Given the description of an element on the screen output the (x, y) to click on. 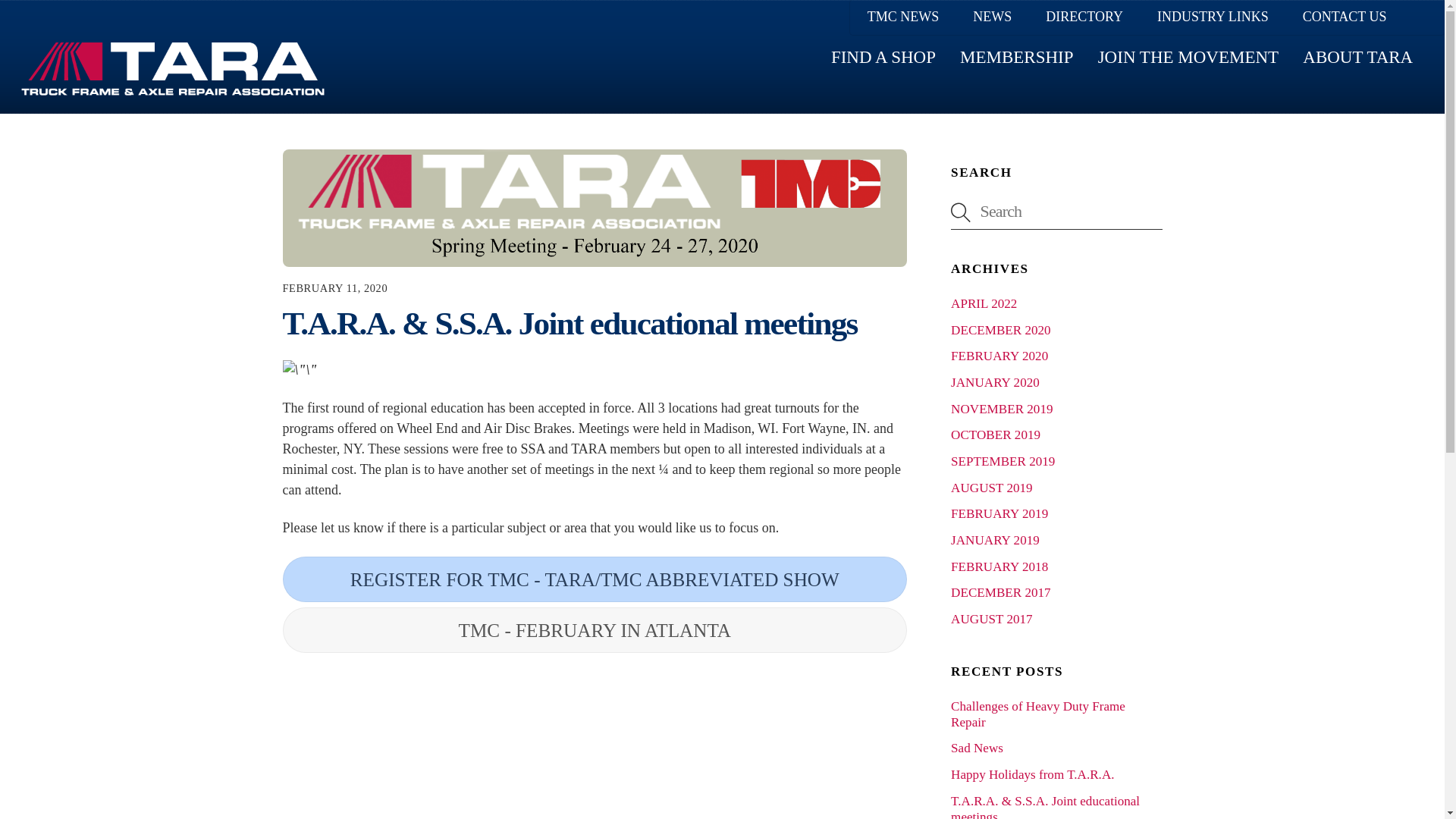
Happy Holidays from T.A.R.A. (1031, 774)
FEBRUARY 2019 (999, 513)
TARA (172, 68)
APRIL 2022 (983, 303)
INDUSTRY LINKS (1212, 17)
FIND A SHOP (883, 57)
SEPTEMBER 2019 (1002, 461)
TMC NEWS (903, 17)
Search (722, 57)
FEBRUARY 2020 (1055, 211)
DECEMBER 2020 (999, 355)
TARA SPRING MEETING banner (1000, 329)
JANUARY 2020 (594, 207)
DIRECTORY (994, 382)
